Given the description of an element on the screen output the (x, y) to click on. 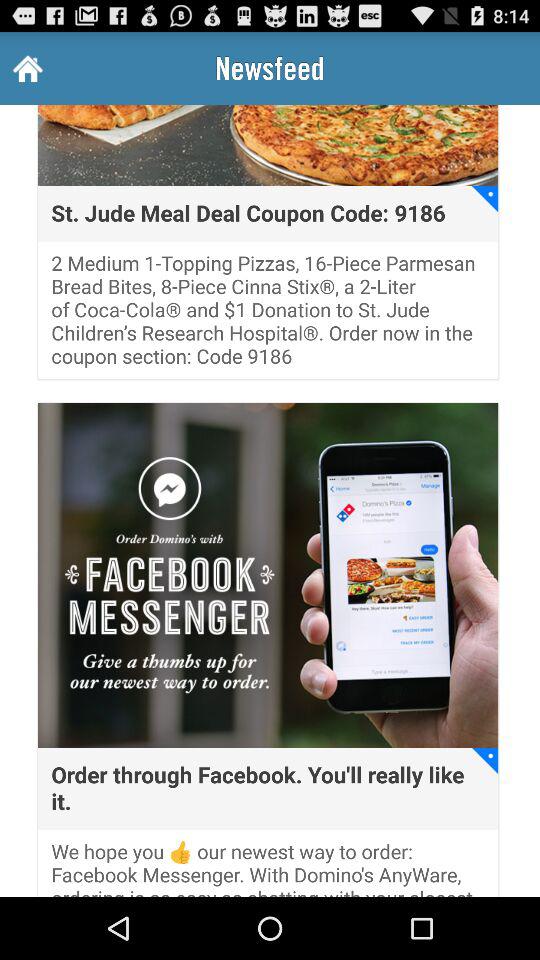
choose st jude meal icon (248, 213)
